Given the description of an element on the screen output the (x, y) to click on. 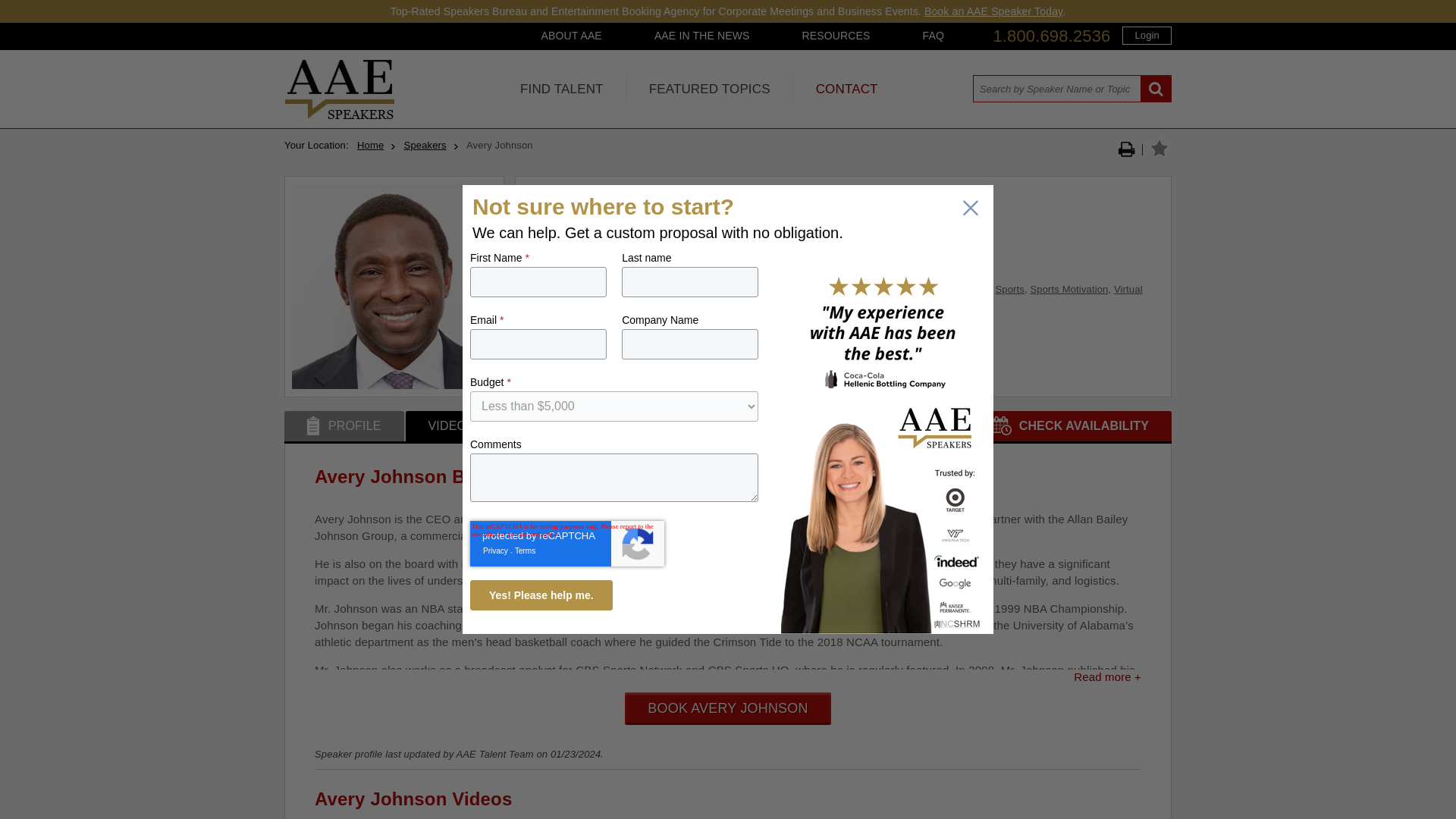
Login (1147, 35)
Book an AAE Speaker Today (993, 10)
ABOUT AAE (570, 34)
AAE IN THE NEWS (702, 34)
1.800.698.2536 (1050, 35)
FAQ (933, 34)
RESOURCES (836, 34)
Search (1156, 89)
All American Speakers Bureau and Celebrity Booking Agency (338, 115)
